Given the description of an element on the screen output the (x, y) to click on. 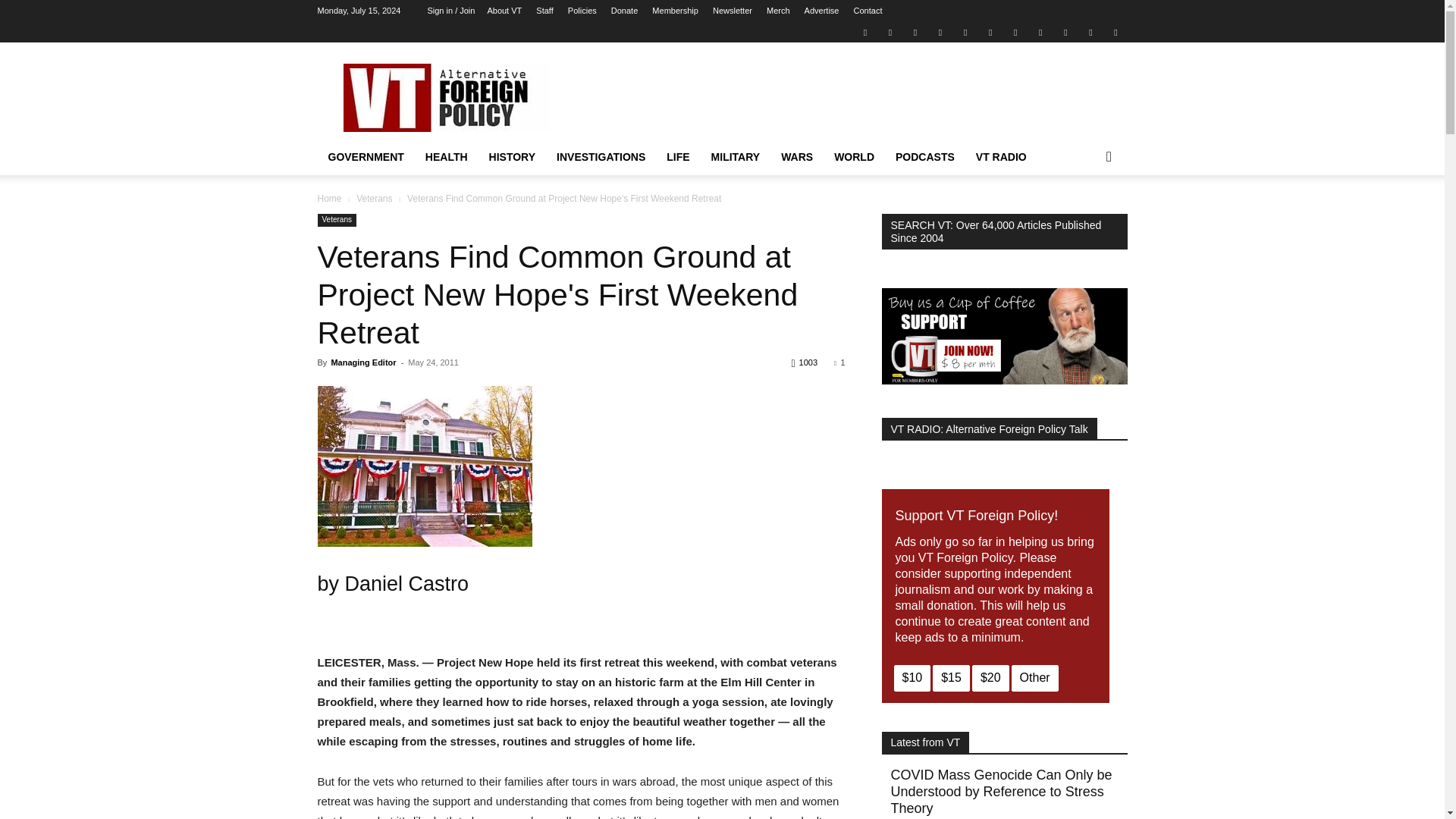
Facebook (890, 31)
Rumble (964, 31)
Donate (624, 10)
Merch (778, 10)
Blogger (864, 31)
Contact (867, 10)
Advertise (822, 10)
Staff (544, 10)
Membership (675, 10)
Reddit (940, 31)
Newsletter (732, 10)
About VT (503, 10)
Policies (581, 10)
Mail (915, 31)
